Given the description of an element on the screen output the (x, y) to click on. 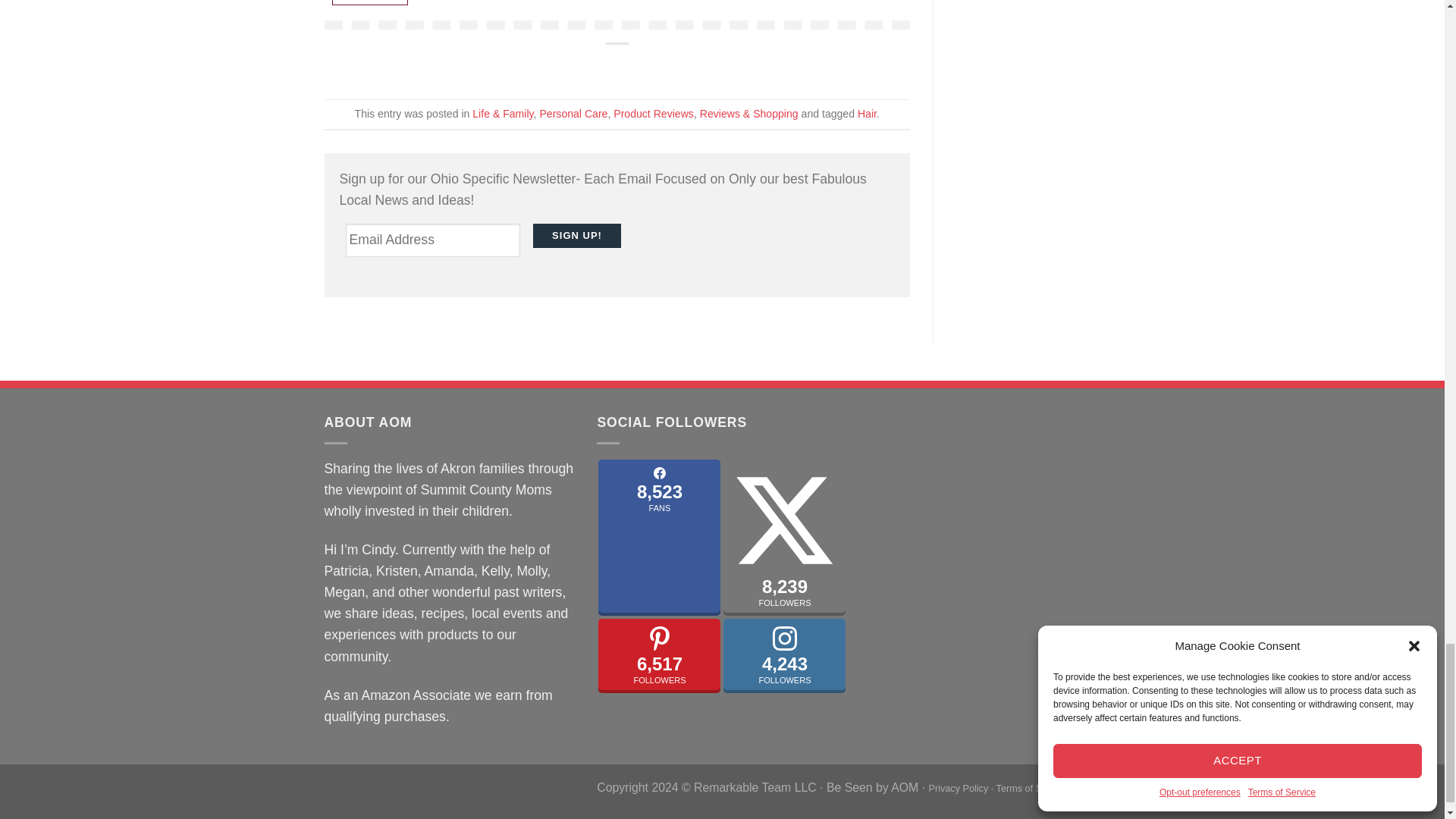
Sign up! (576, 235)
